Given the description of an element on the screen output the (x, y) to click on. 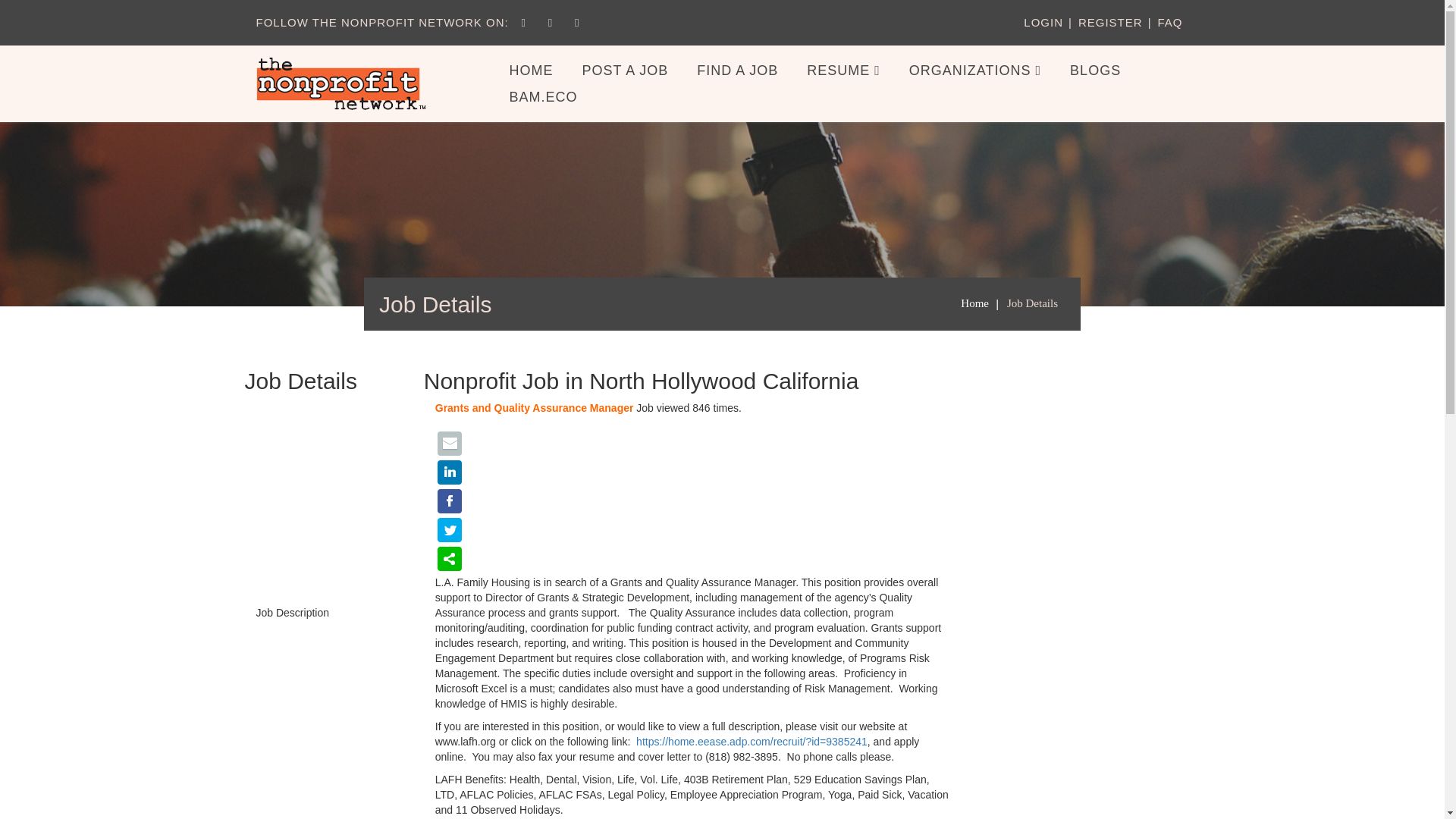
FIND A JOB (737, 70)
FAQ (1169, 21)
LOGIN (1042, 21)
Job Details (1032, 303)
Home (974, 303)
HOME (530, 70)
POST A JOB (624, 70)
RESUME (842, 70)
BAM.ECO (542, 96)
BLOGS (1095, 70)
